Given the description of an element on the screen output the (x, y) to click on. 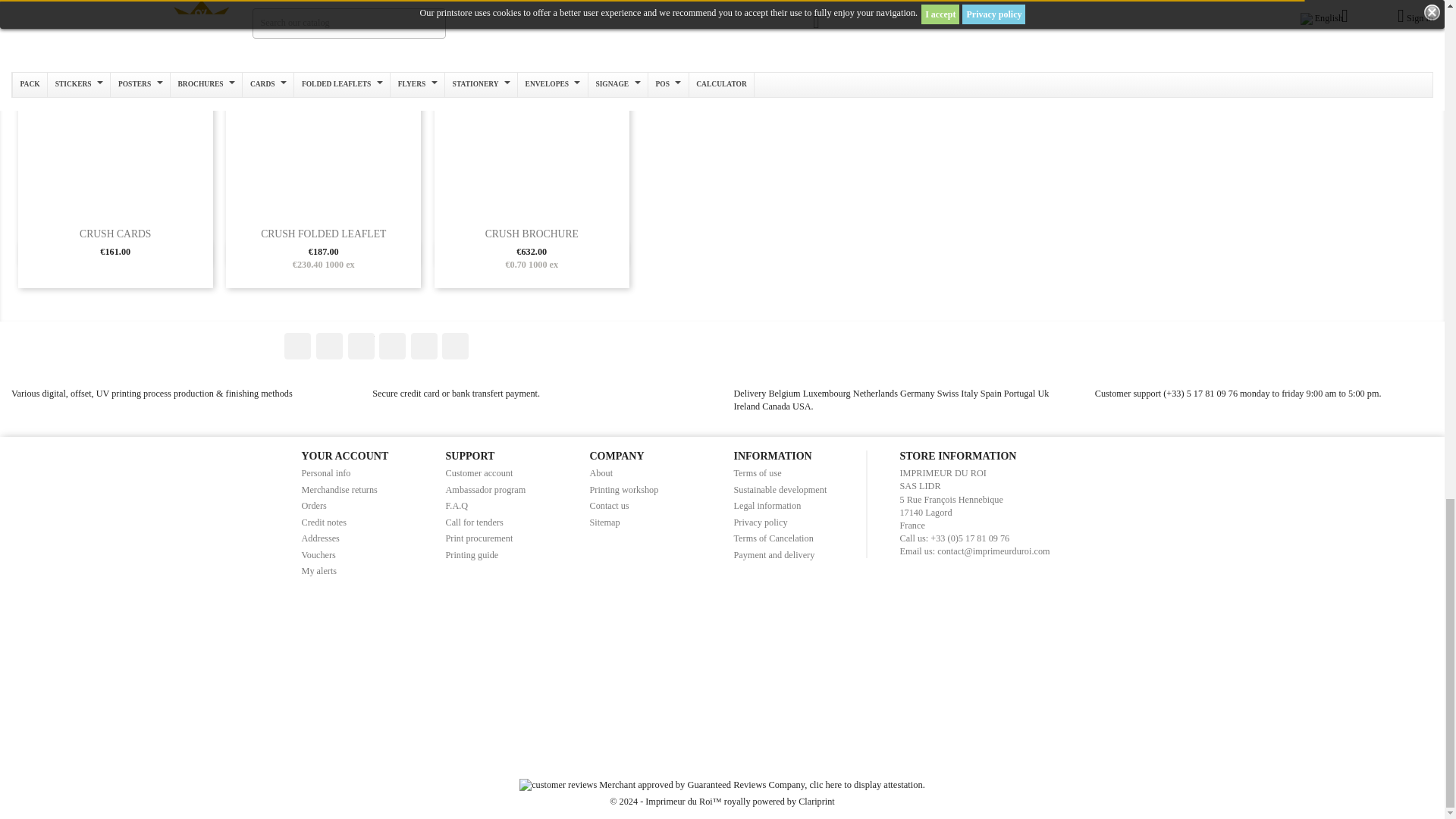
Merchandise returns (339, 489)
My alerts (319, 570)
Addresses (320, 538)
Personal info (325, 472)
